Given the description of an element on the screen output the (x, y) to click on. 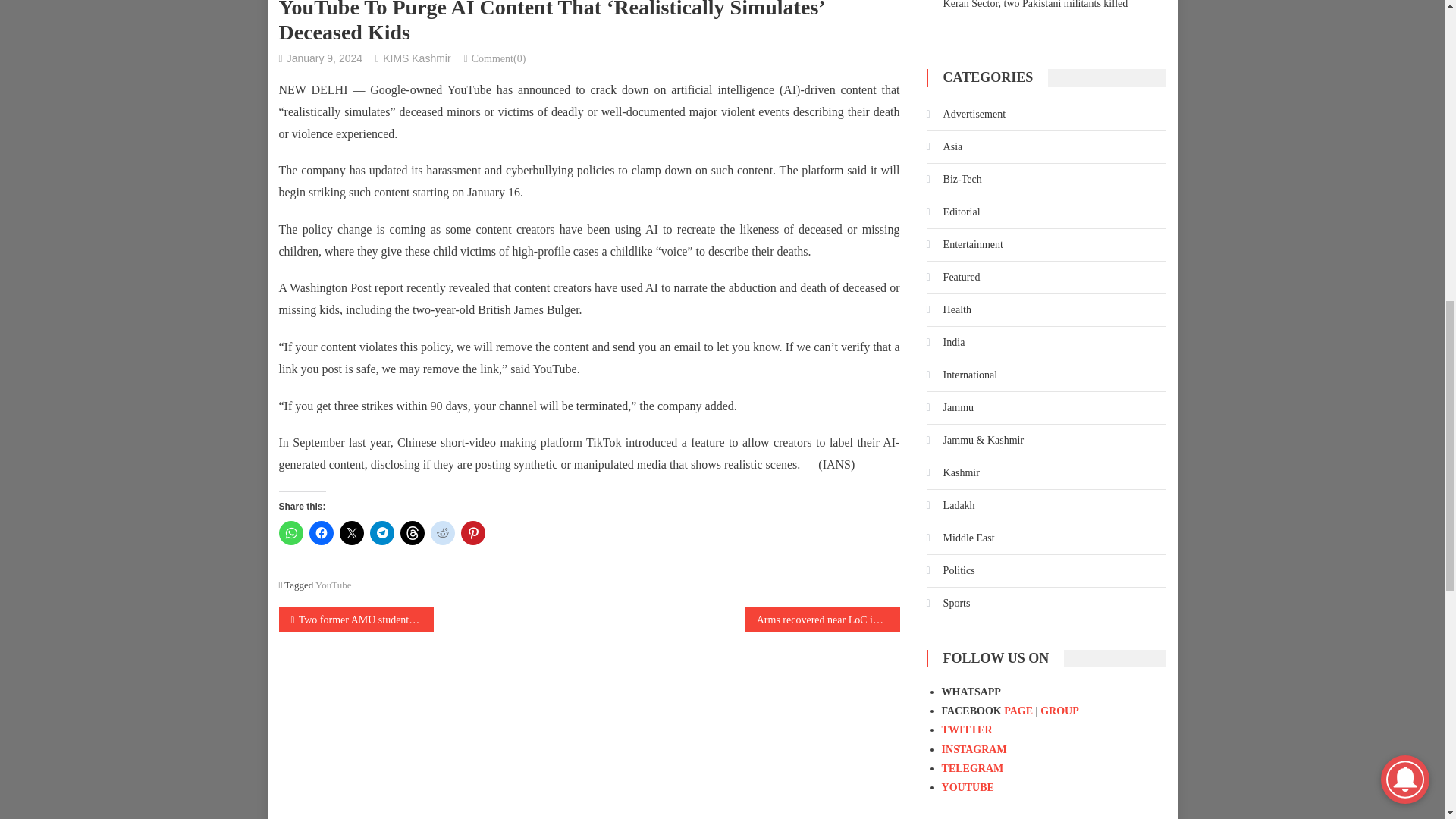
KIMS Kashmir (415, 58)
Click to share on Pinterest (472, 532)
Click to share on Reddit (442, 532)
Click to share on Threads (412, 532)
Click to share on X (351, 532)
January 9, 2024 (324, 58)
Arms recovered near LoC in Kupwara (821, 618)
Two former AMU students arrested for alleged IS links (356, 618)
Click to share on WhatsApp (290, 532)
YouTube (332, 584)
Click to share on Facebook (320, 532)
Click to share on Telegram (381, 532)
